Given the description of an element on the screen output the (x, y) to click on. 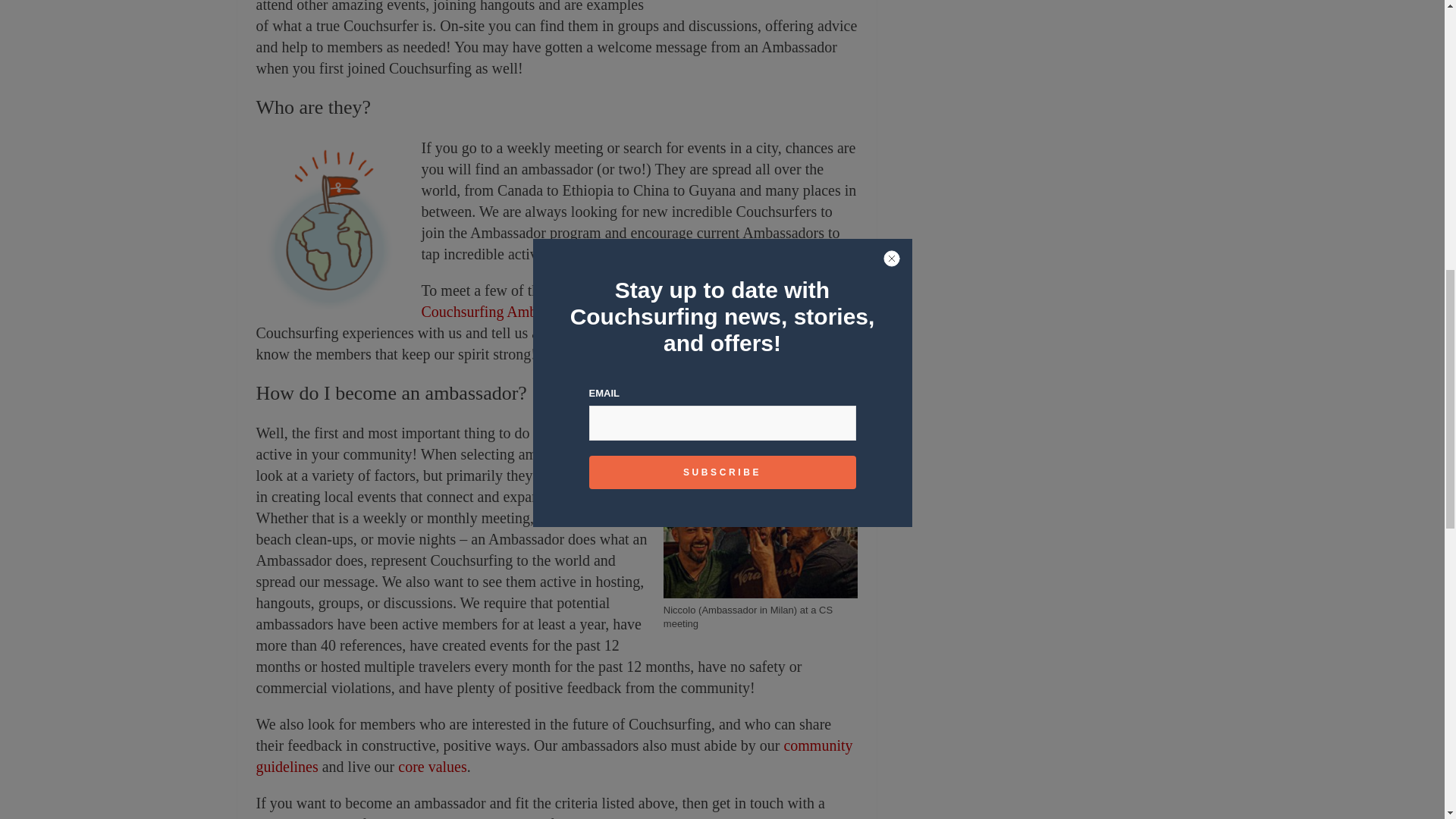
core values (432, 766)
10 Questions with a Couchsurfing Ambassador. (619, 300)
community guidelines (554, 755)
